Given the description of an element on the screen output the (x, y) to click on. 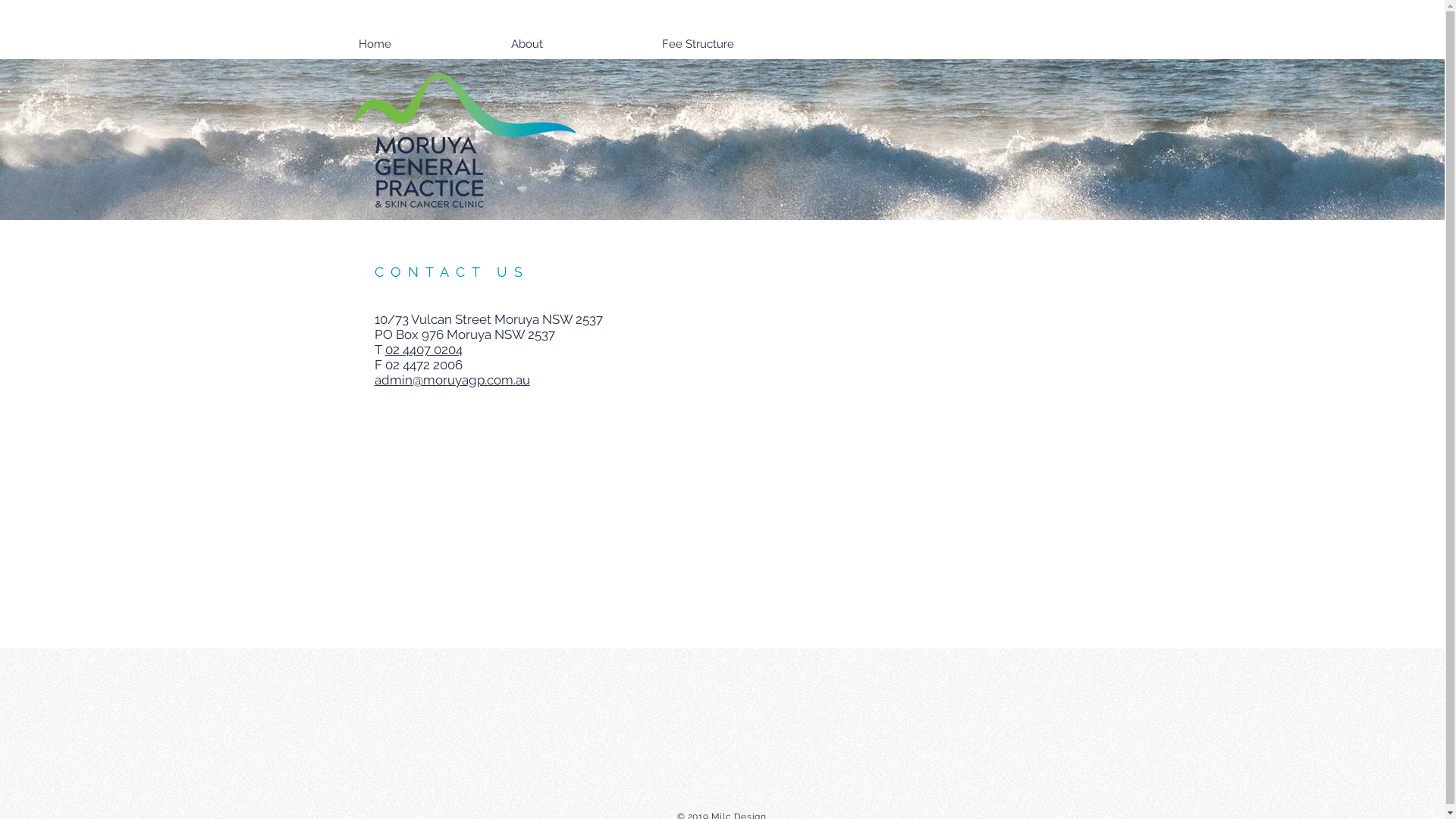
Google Maps Element type: hover (722, 556)
Home Element type: text (426, 43)
About Element type: text (578, 43)
admin@moruyagp.com.au Element type: text (452, 379)
Fee Structure Element type: text (748, 43)
02 4407 0204 Element type: text (423, 349)
